Given the description of an element on the screen output the (x, y) to click on. 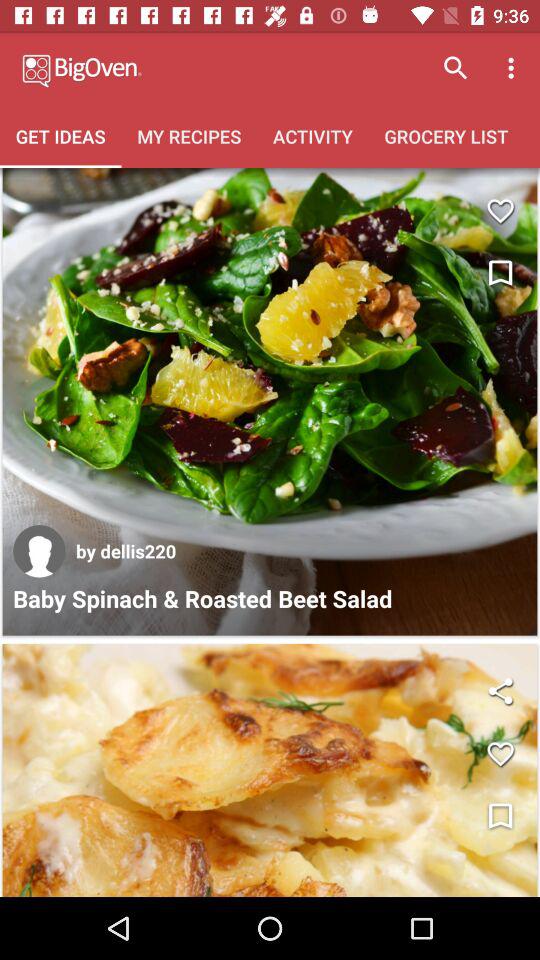
like (500, 753)
